Given the description of an element on the screen output the (x, y) to click on. 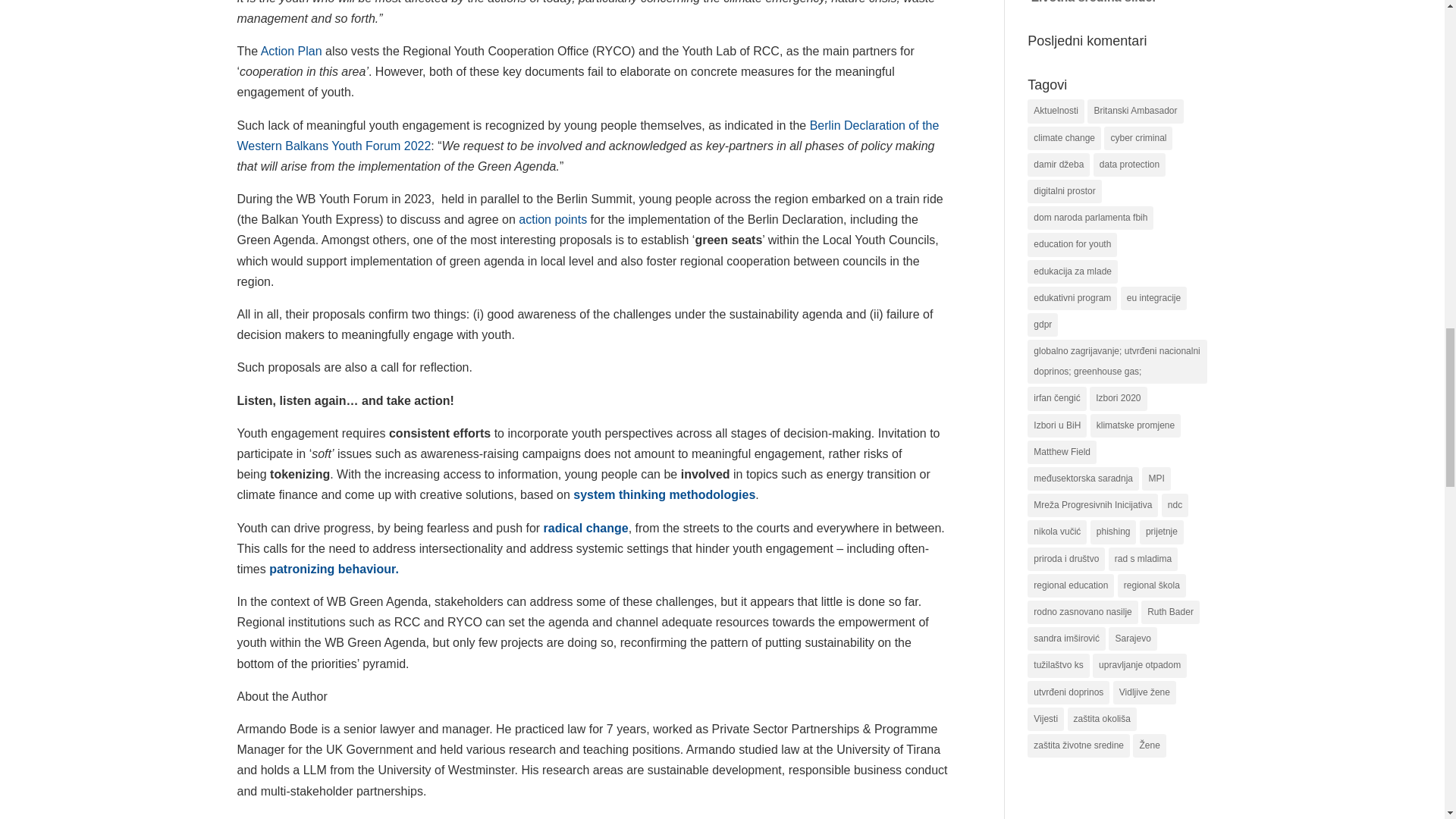
patronizing behaviour. (333, 568)
action points (552, 219)
system thinking methodologies (664, 494)
radical change (585, 527)
Action Plan (290, 51)
Berlin Declaration of the Western Balkans Youth Forum 2022 (587, 135)
